Given the description of an element on the screen output the (x, y) to click on. 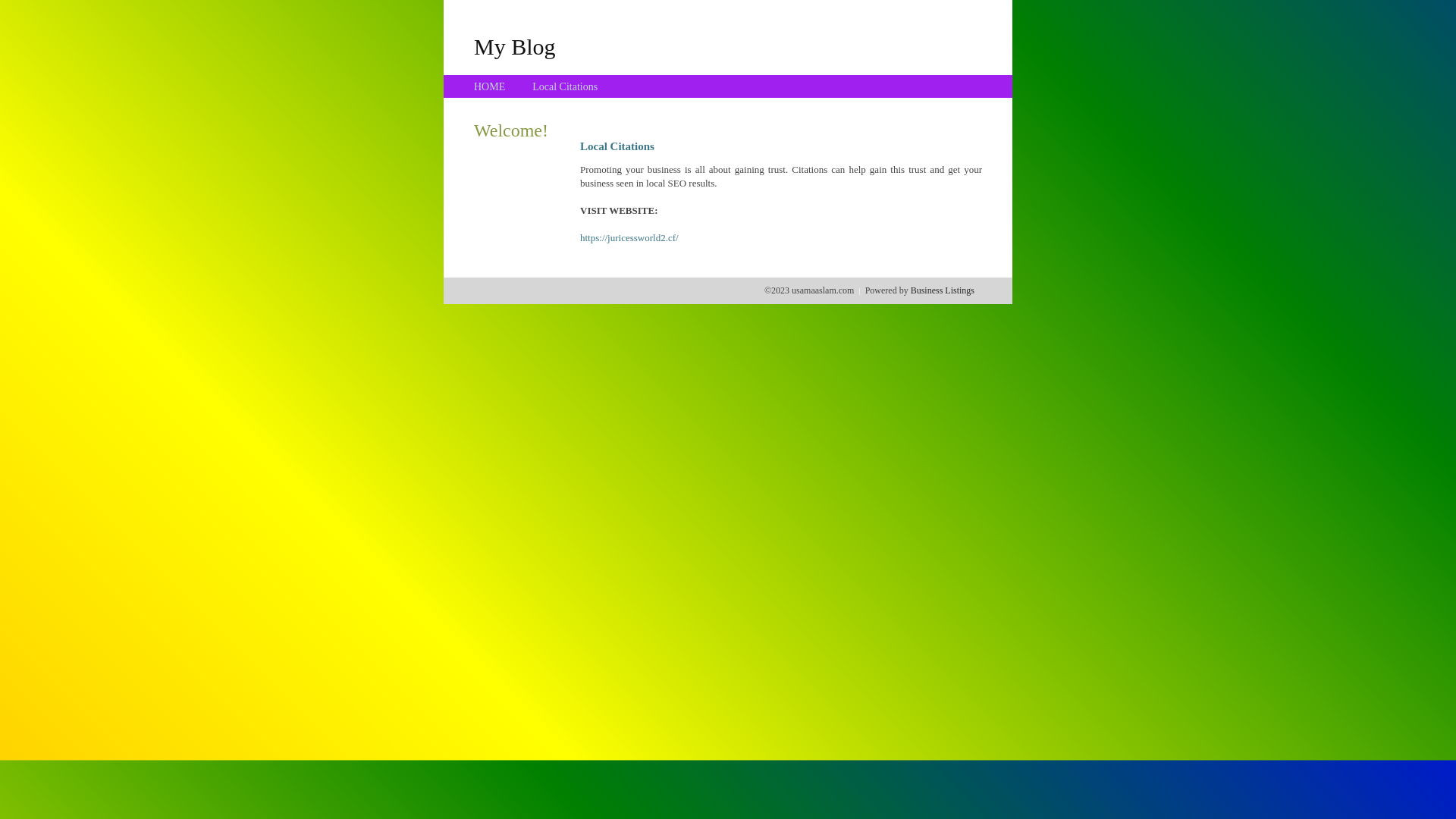
https://juricessworld2.cf/ Element type: text (629, 237)
Business Listings Element type: text (942, 290)
HOME Element type: text (489, 86)
My Blog Element type: text (514, 46)
Local Citations Element type: text (564, 86)
